Given the description of an element on the screen output the (x, y) to click on. 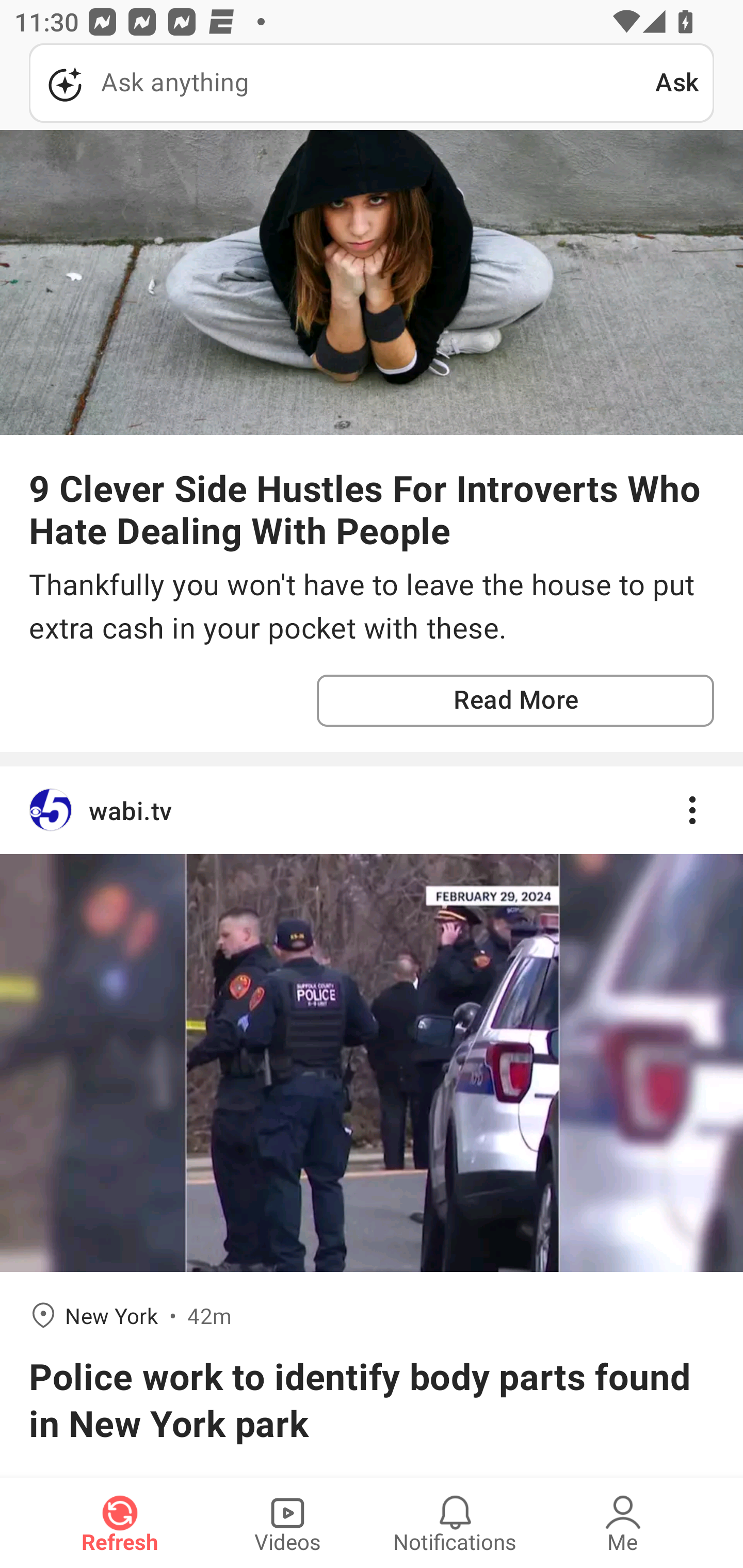
Ask anything (341, 82)
Read More (515, 699)
wabi.tv (371, 810)
Videos (287, 1522)
Notifications (455, 1522)
Me (622, 1522)
